Given the description of an element on the screen output the (x, y) to click on. 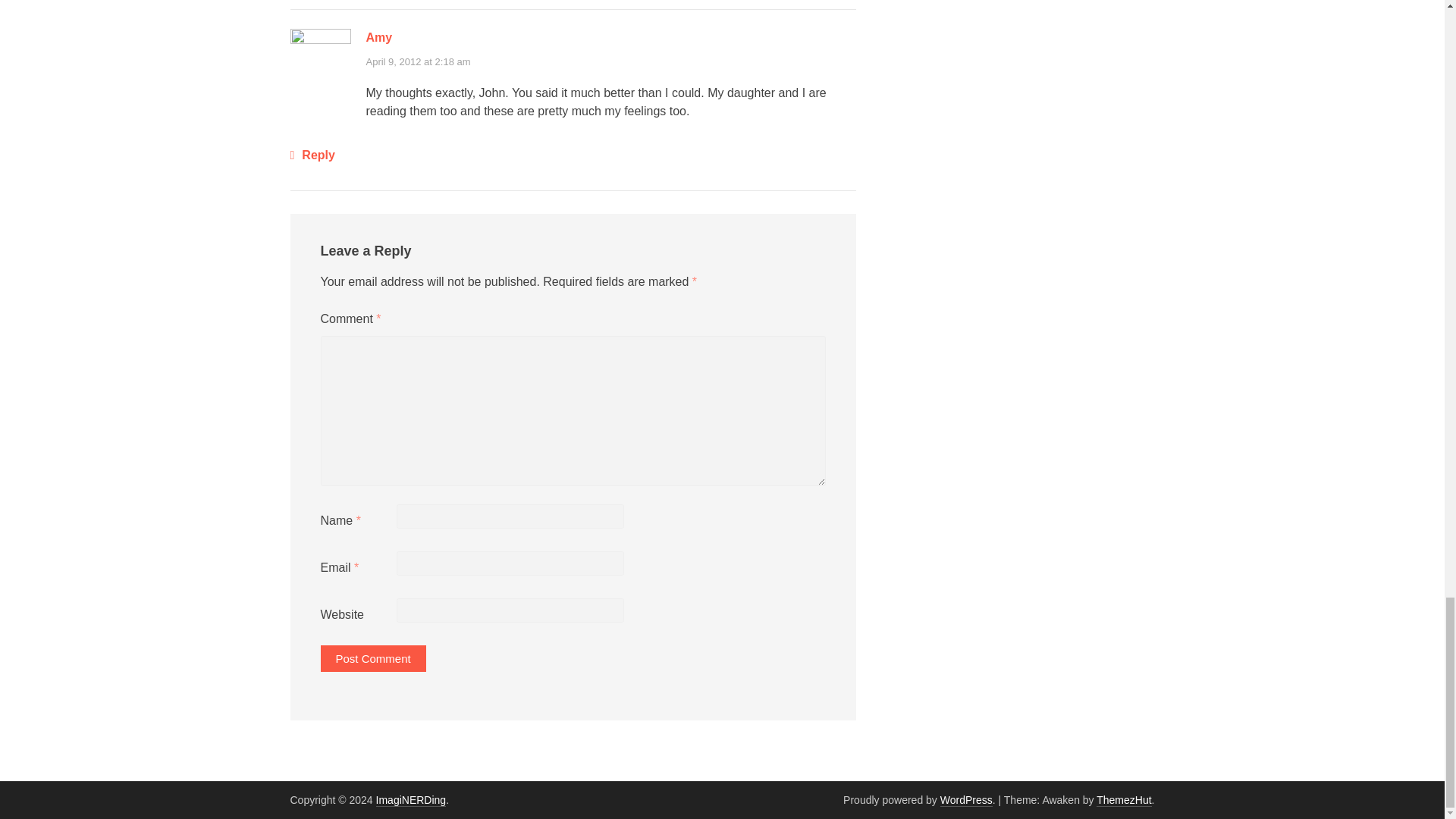
WordPress (966, 799)
ImagiNERDing (410, 799)
Post Comment (372, 658)
